Given the description of an element on the screen output the (x, y) to click on. 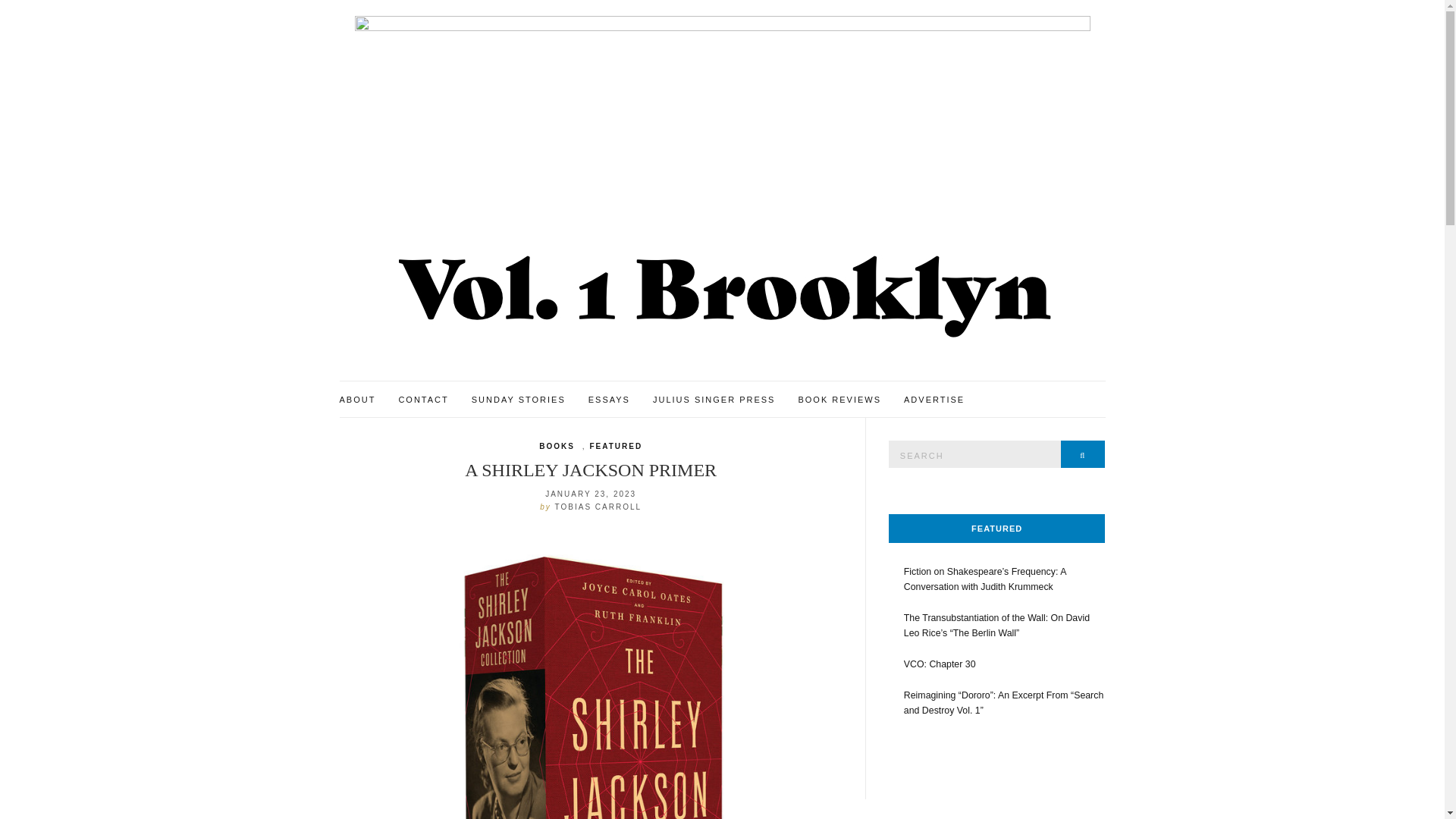
BOOK REVIEWS (838, 400)
ADVERTISE (933, 400)
SUNDAY STORIES (518, 400)
CONTACT (422, 400)
by (547, 506)
ESSAYS (609, 400)
BOOKS (556, 446)
Search (1083, 453)
FEATURED (615, 446)
JULIUS SINGER PRESS (713, 400)
ABOUT (357, 400)
